Given the description of an element on the screen output the (x, y) to click on. 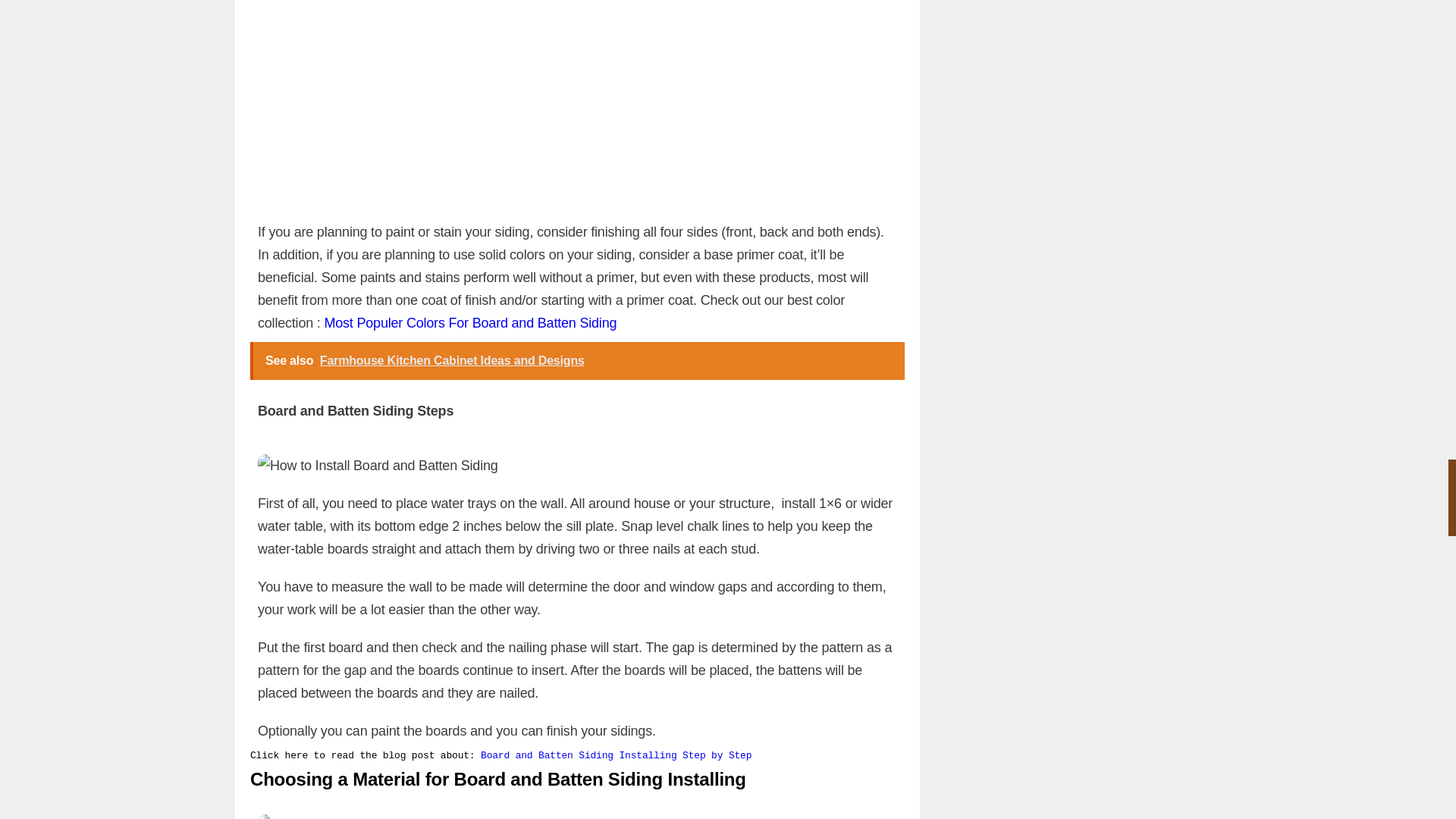
See also  Farmhouse Kitchen Cabinet Ideas and Designs (577, 361)
Board and Batten Siding Installing Step by Step (615, 755)
Most Populer Colors For Board and Batten Siding (469, 322)
Most Populer Colors For Board and Batten Siding (469, 322)
